Given the description of an element on the screen output the (x, y) to click on. 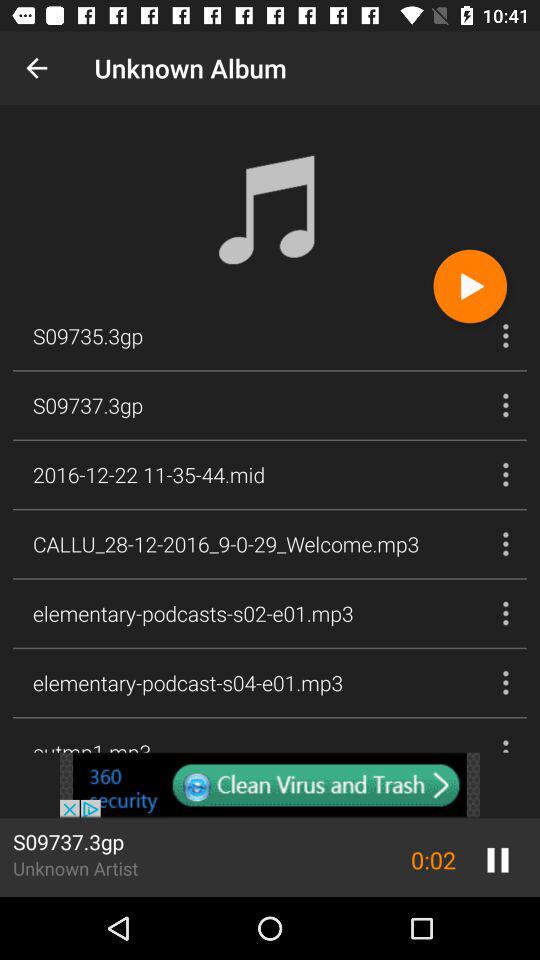
content sponsored (270, 785)
